Given the description of an element on the screen output the (x, y) to click on. 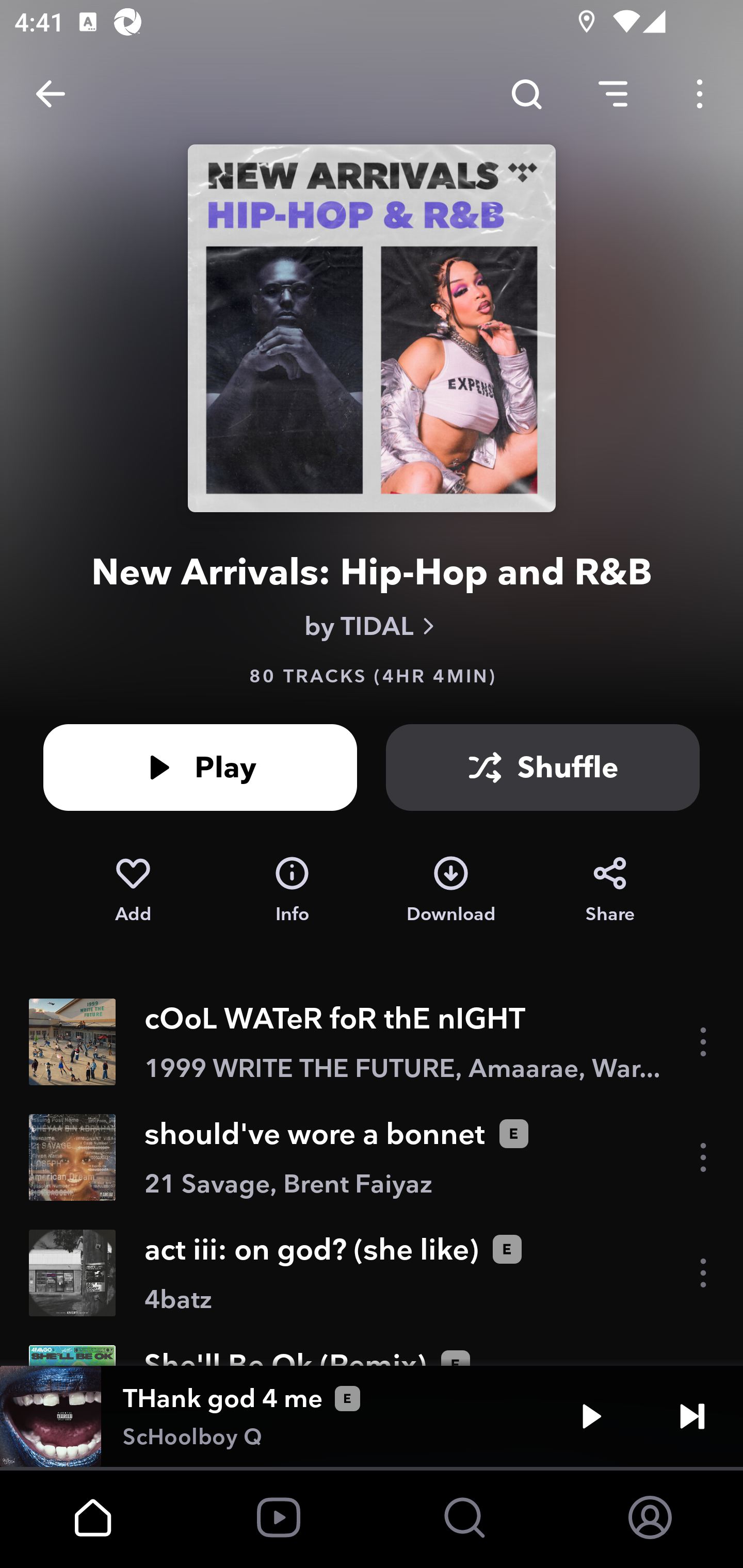
Back (50, 93)
Search (525, 93)
Sorting (612, 93)
Options (699, 93)
by TIDAL (371, 625)
Play (200, 767)
Shuffle (542, 767)
Add (132, 890)
Info (291, 890)
Download (450, 890)
Share (609, 890)
should've wore a bonnet 21 Savage, Brent Faiyaz (371, 1157)
act iii: on god? (she like) 4batz (371, 1273)
THank god 4 me    ScHoolboy Q Play (371, 1416)
Play (590, 1416)
